Given the description of an element on the screen output the (x, y) to click on. 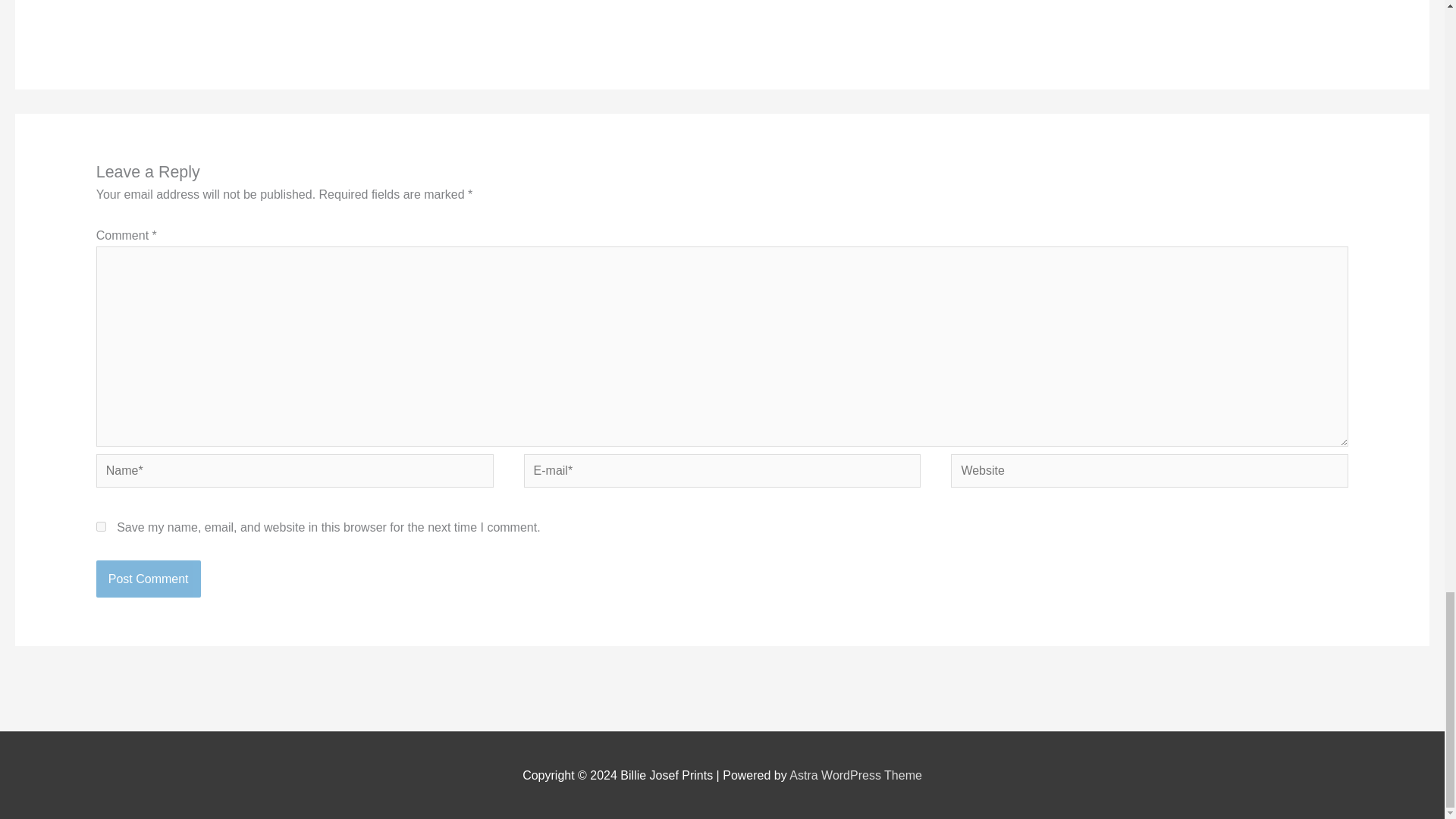
Astra WordPress Theme (855, 775)
Post Comment (148, 578)
yes (101, 526)
Post Comment (148, 578)
